Given the description of an element on the screen output the (x, y) to click on. 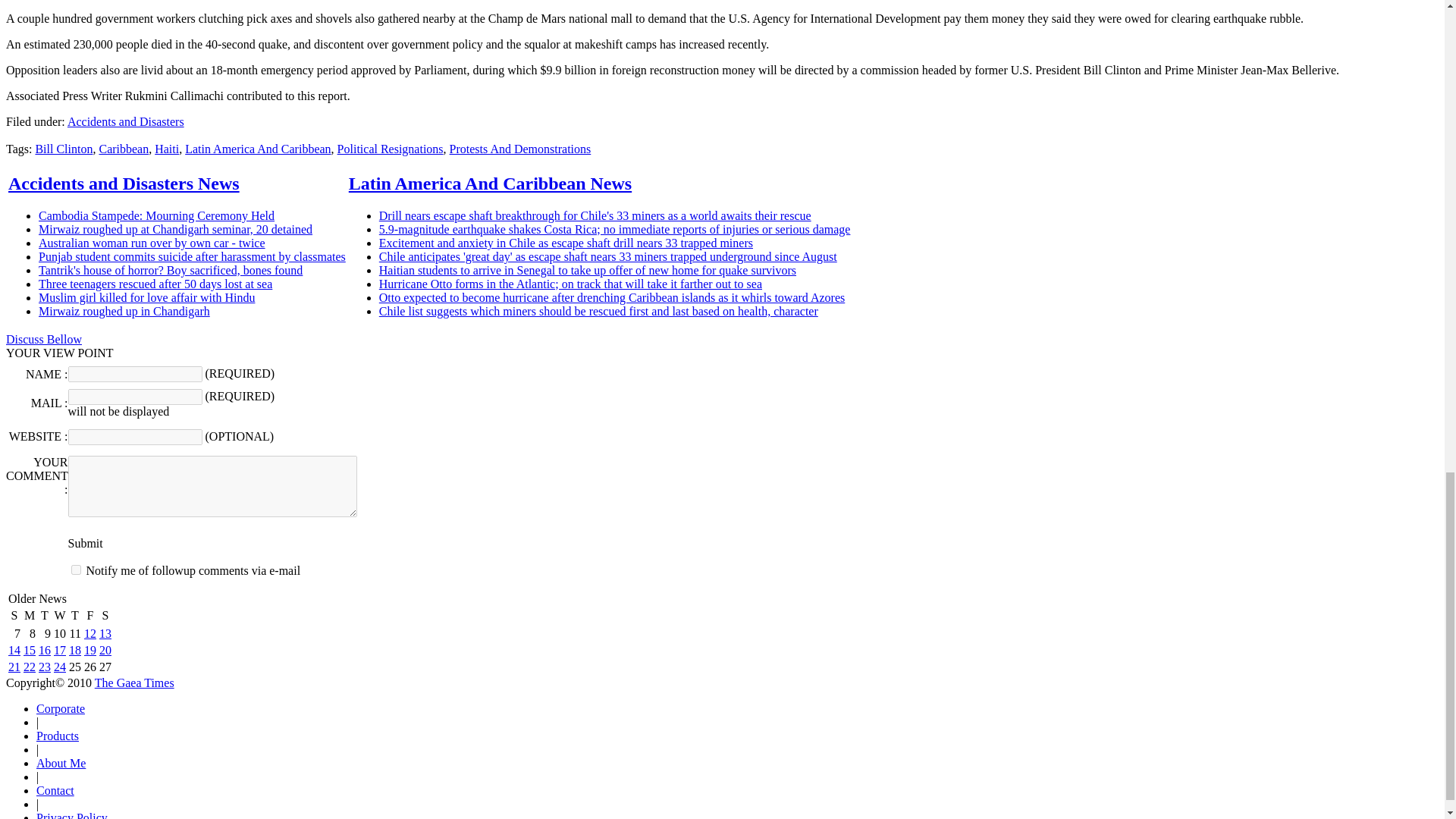
Accidents and Disasters (125, 121)
Bill Clinton (63, 148)
subscribe (76, 569)
Caribbean (123, 148)
Haiti (166, 148)
